Given the description of an element on the screen output the (x, y) to click on. 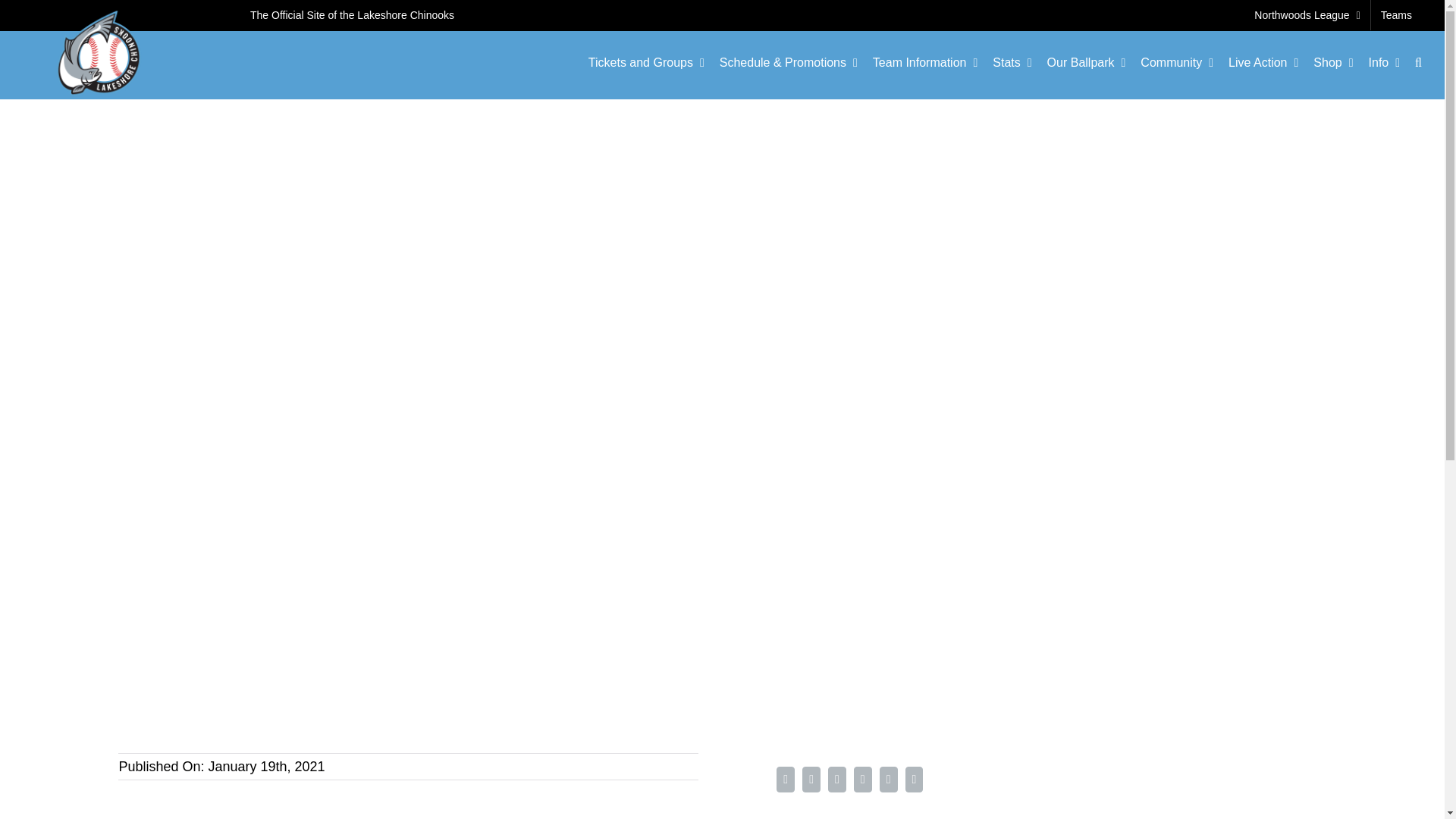
Northwoods League (1307, 15)
Tickets and Groups (646, 63)
Teams (1396, 15)
Team Information (924, 63)
Our Ballpark (1085, 63)
